Given the description of an element on the screen output the (x, y) to click on. 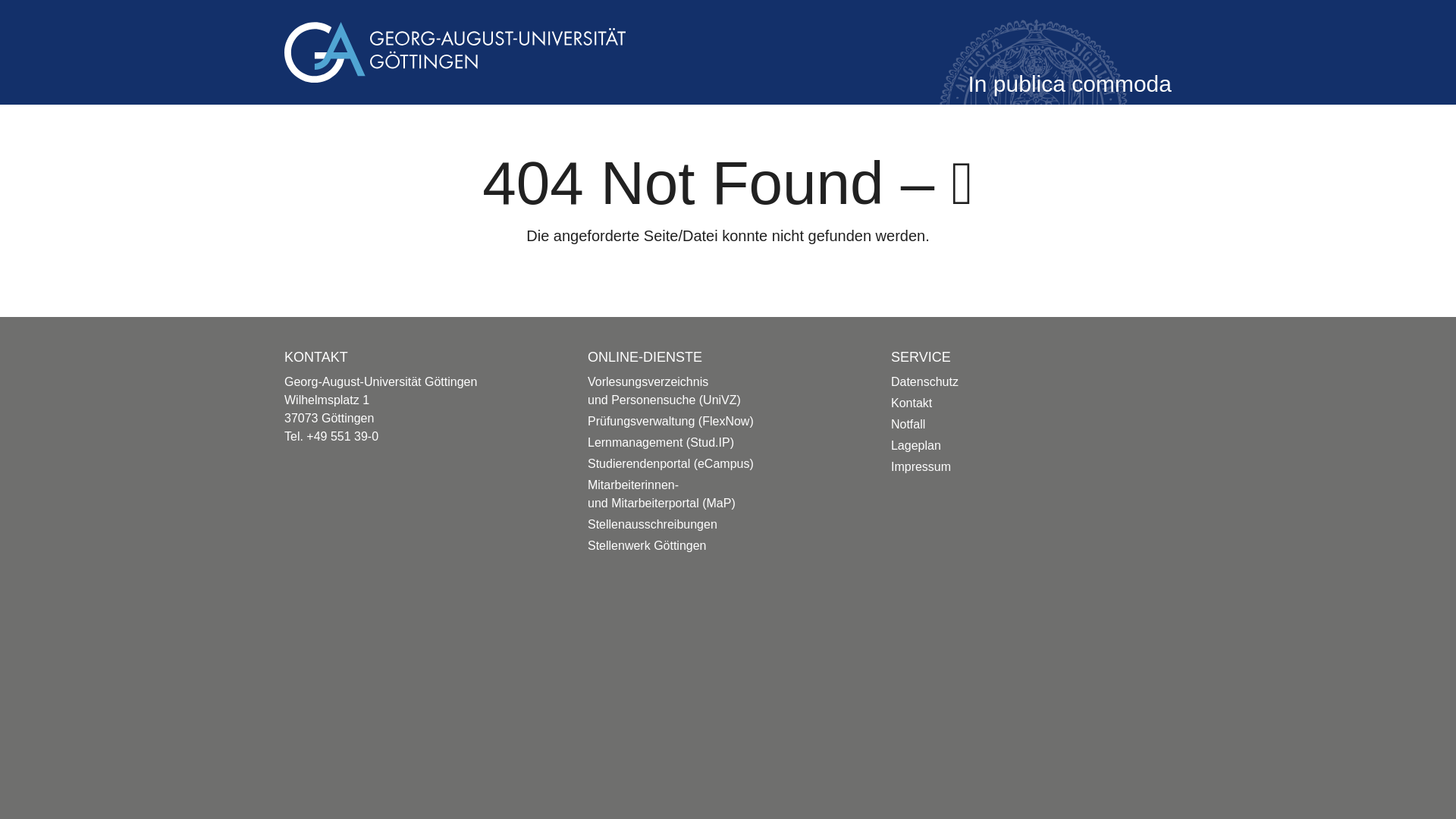
Stellenausschreibungen (652, 523)
Notfall (907, 423)
Datenschutz (924, 381)
Impressum (920, 466)
Kontakt (911, 402)
Lageplan (915, 445)
